Given the description of an element on the screen output the (x, y) to click on. 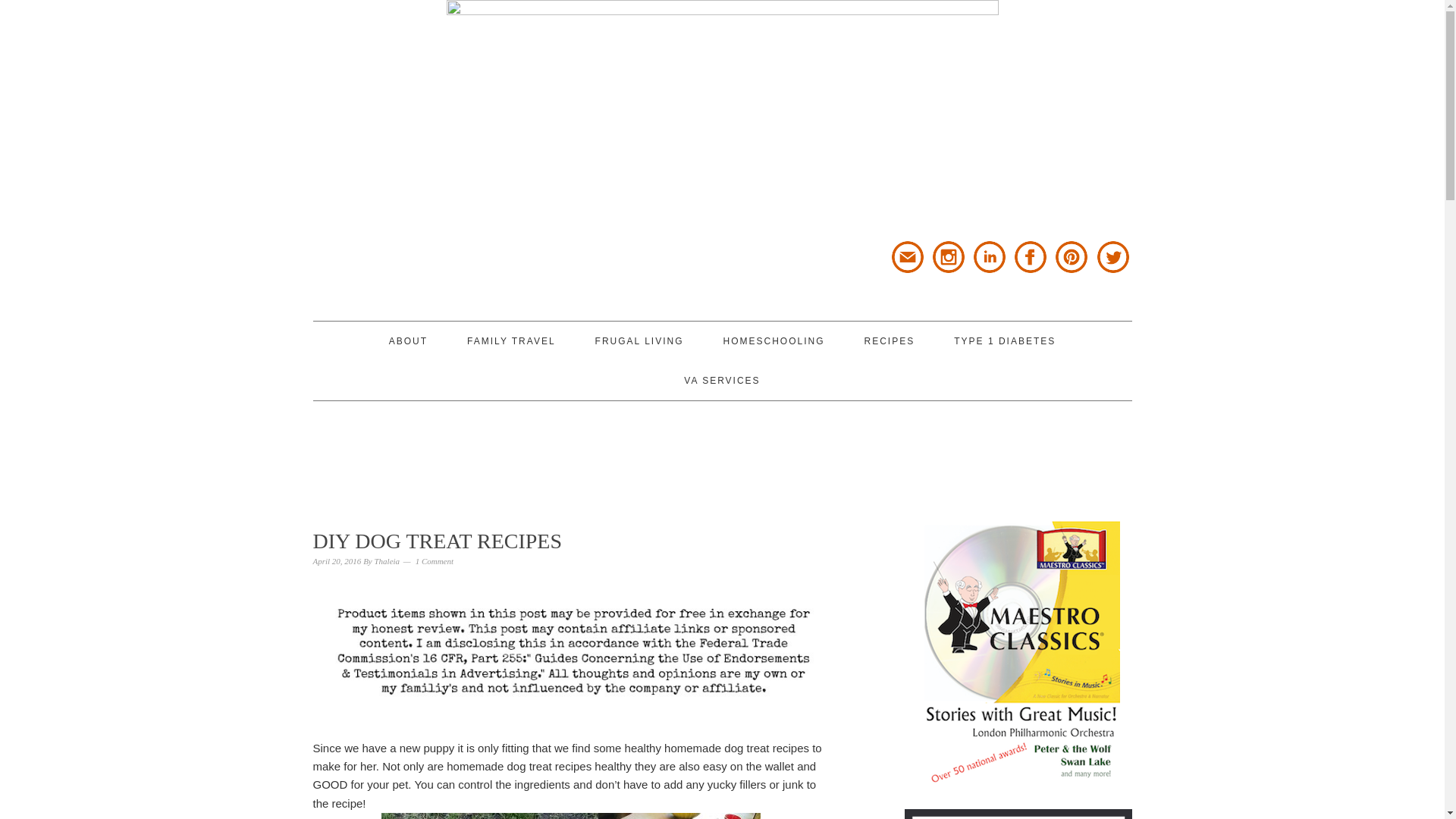
HOMESCHOOLING (773, 341)
FRUGAL LIVING (639, 341)
Advertisement (721, 450)
TYPE 1 DIABETES (1004, 341)
ABOUT (407, 341)
RECIPES (889, 341)
FAMILY TRAVEL (510, 341)
SOMETHING 2 OFFER (449, 160)
VA SERVICES (721, 380)
